Given the description of an element on the screen output the (x, y) to click on. 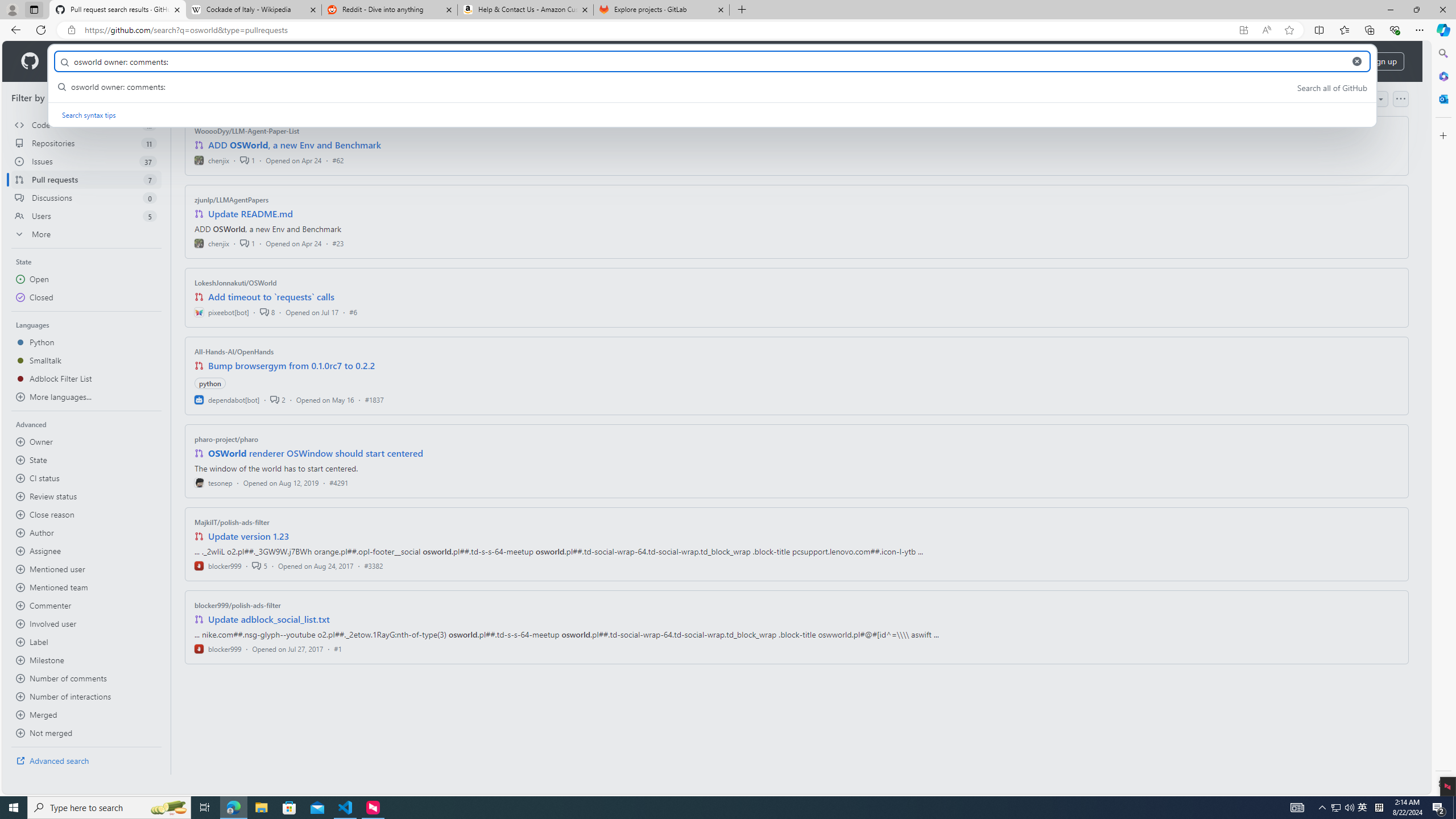
#62 (337, 159)
#1 (337, 648)
zjunlp/LLMAgentPapers (232, 199)
Advanced search (86, 760)
